Given the description of an element on the screen output the (x, y) to click on. 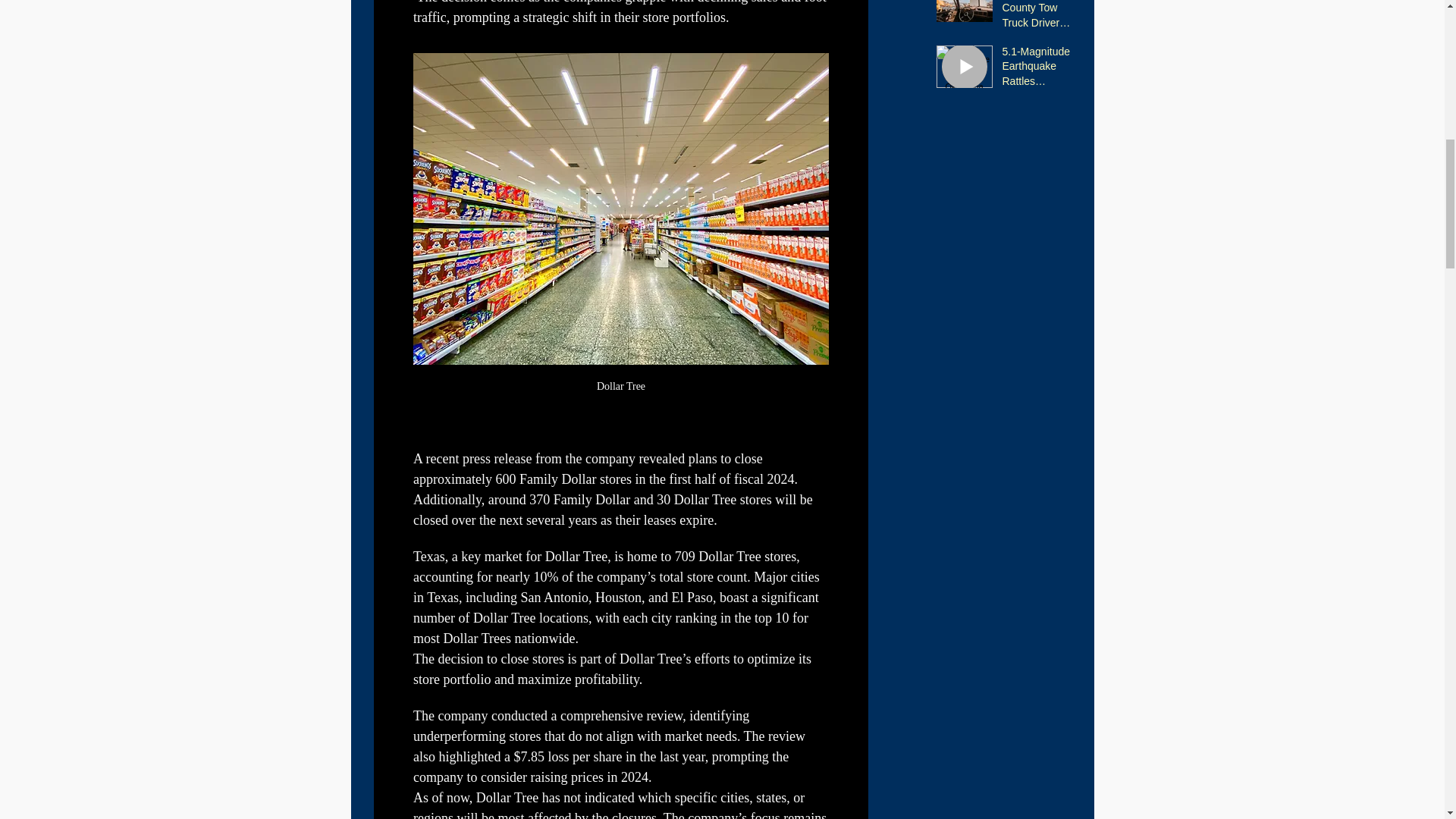
5.1-Magnitude Earthquake Rattles Oklahoma Late Friday Night (1043, 70)
